Given the description of an element on the screen output the (x, y) to click on. 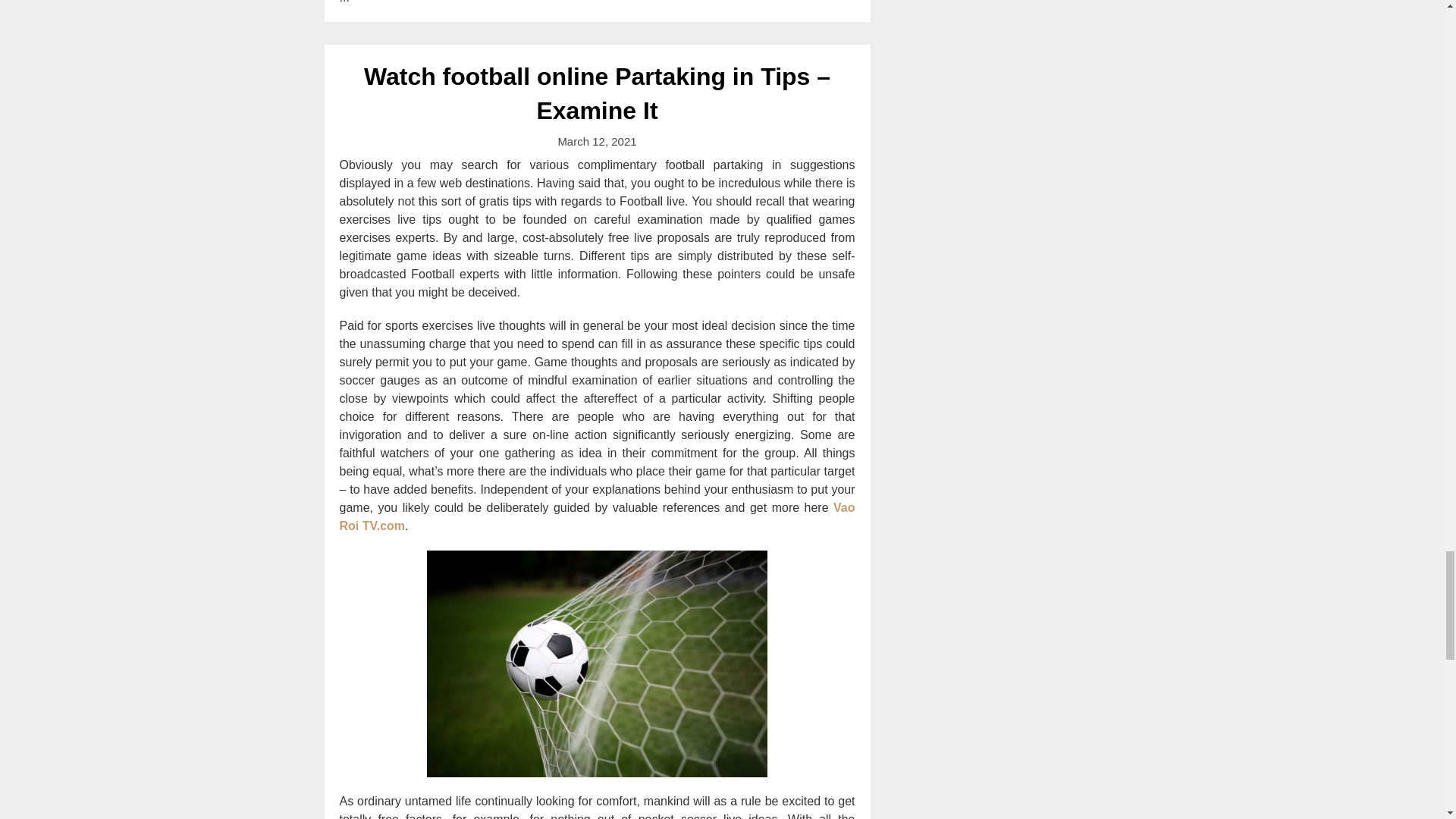
Vao Roi TV.com (597, 516)
